Given the description of an element on the screen output the (x, y) to click on. 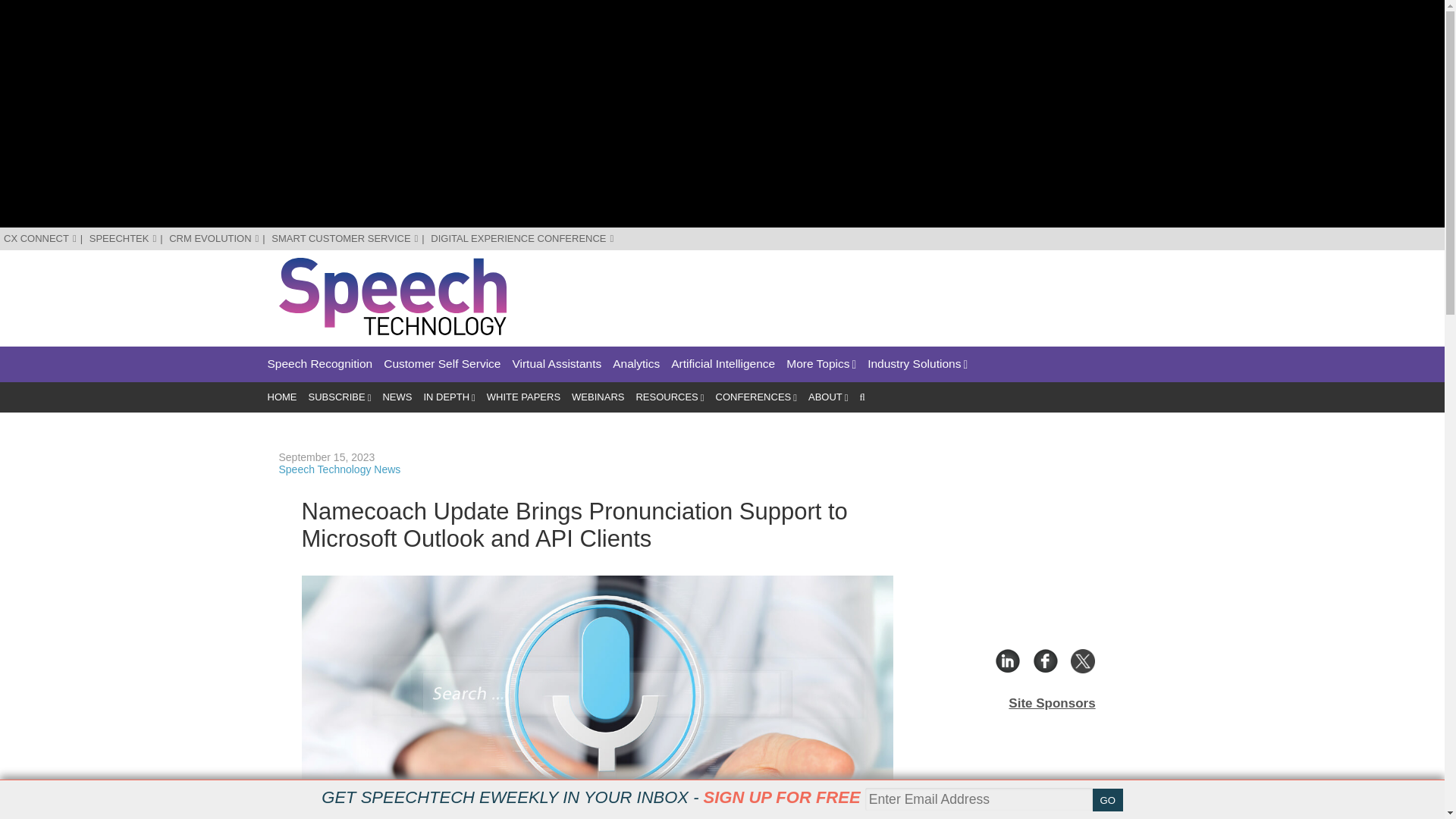
DIGITAL EXPERIENCE CONFERENCE (521, 238)
Artificial Intelligence (722, 364)
Speech Recognition (319, 364)
Analytics (635, 364)
Analytics (635, 364)
GET SPEECHTECH EWEEKLY IN YOUR INBOX - SIGN UP FOR FREE (590, 797)
SPEECHTEK (122, 238)
Virtual Assistants (556, 364)
CX CONNECT (40, 238)
3rd party ad content (890, 291)
CRM EVOLUTION (213, 238)
Speech Recognition (319, 364)
More Topics (821, 364)
GO (1107, 799)
